Given the description of an element on the screen output the (x, y) to click on. 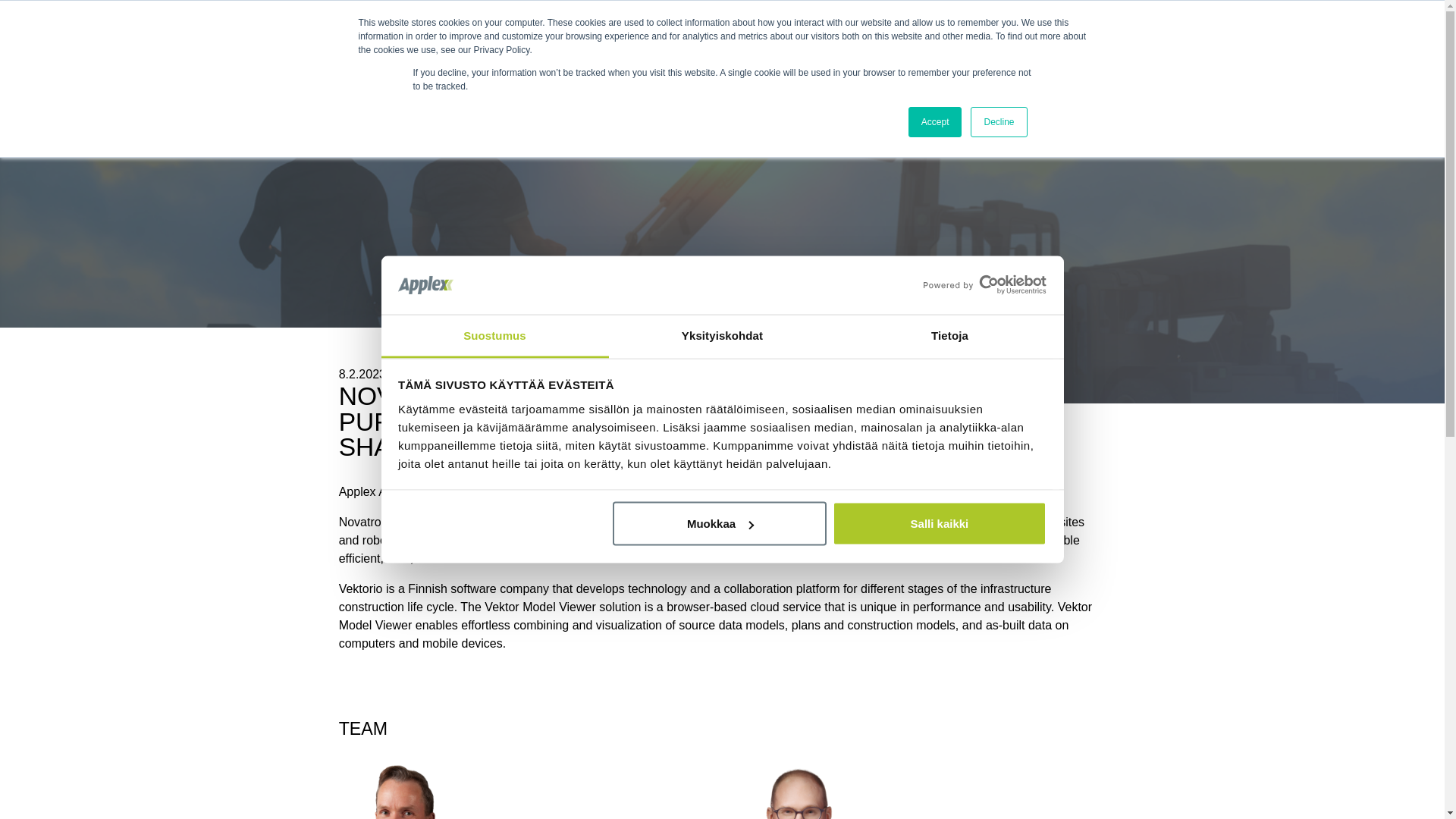
Yksityiskohdat (721, 335)
Tietoja (948, 335)
Accept (935, 122)
Services (569, 41)
Decline (998, 122)
Suostumus (494, 335)
